Given the description of an element on the screen output the (x, y) to click on. 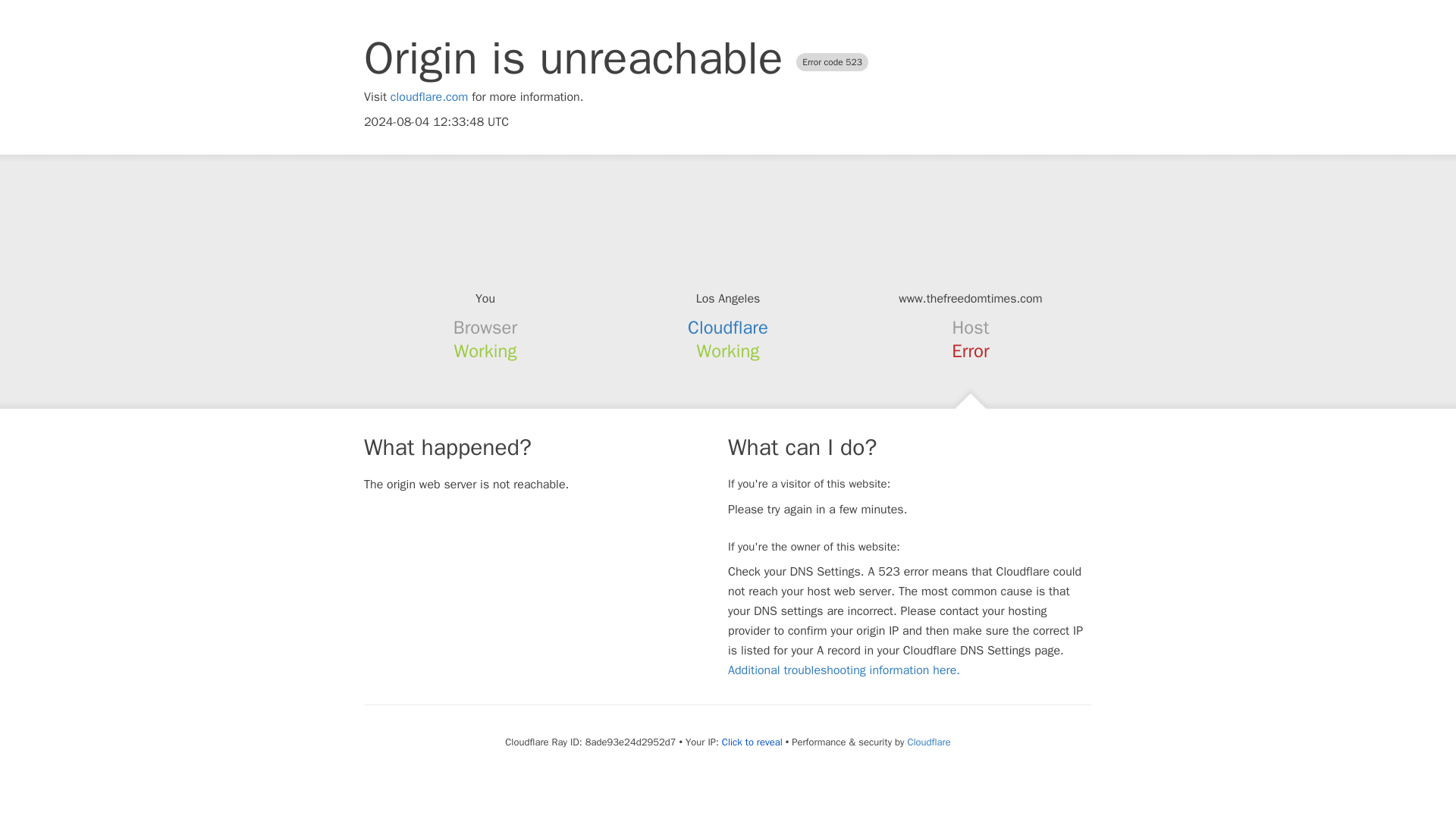
cloudflare.com (429, 96)
Click to reveal (752, 742)
Cloudflare (727, 327)
Additional troubleshooting information here. (843, 670)
Cloudflare (928, 741)
